Given the description of an element on the screen output the (x, y) to click on. 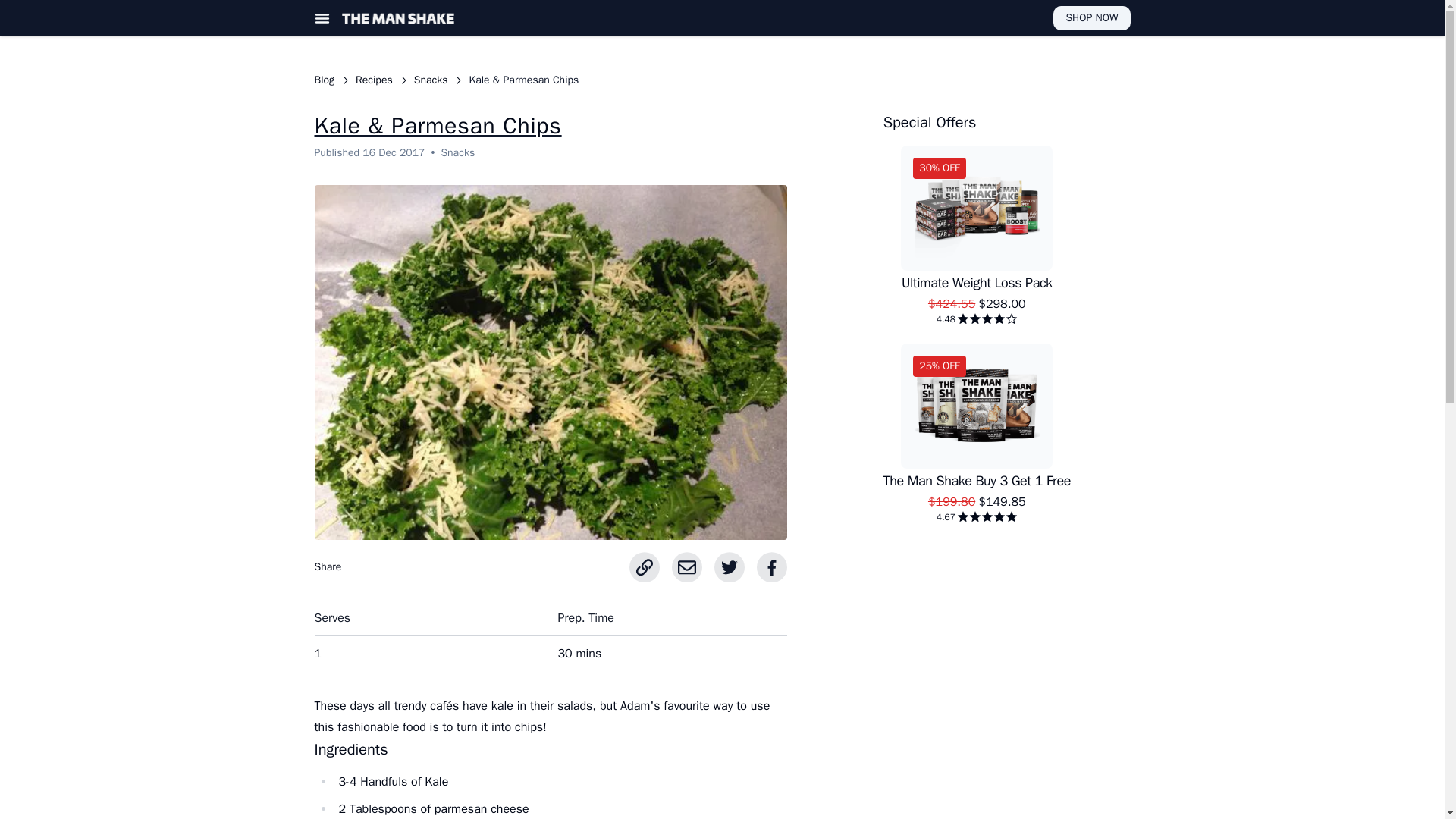
Blog (324, 79)
Snacks (430, 79)
Recipes (374, 79)
SHOP NOW (1090, 17)
